Given the description of an element on the screen output the (x, y) to click on. 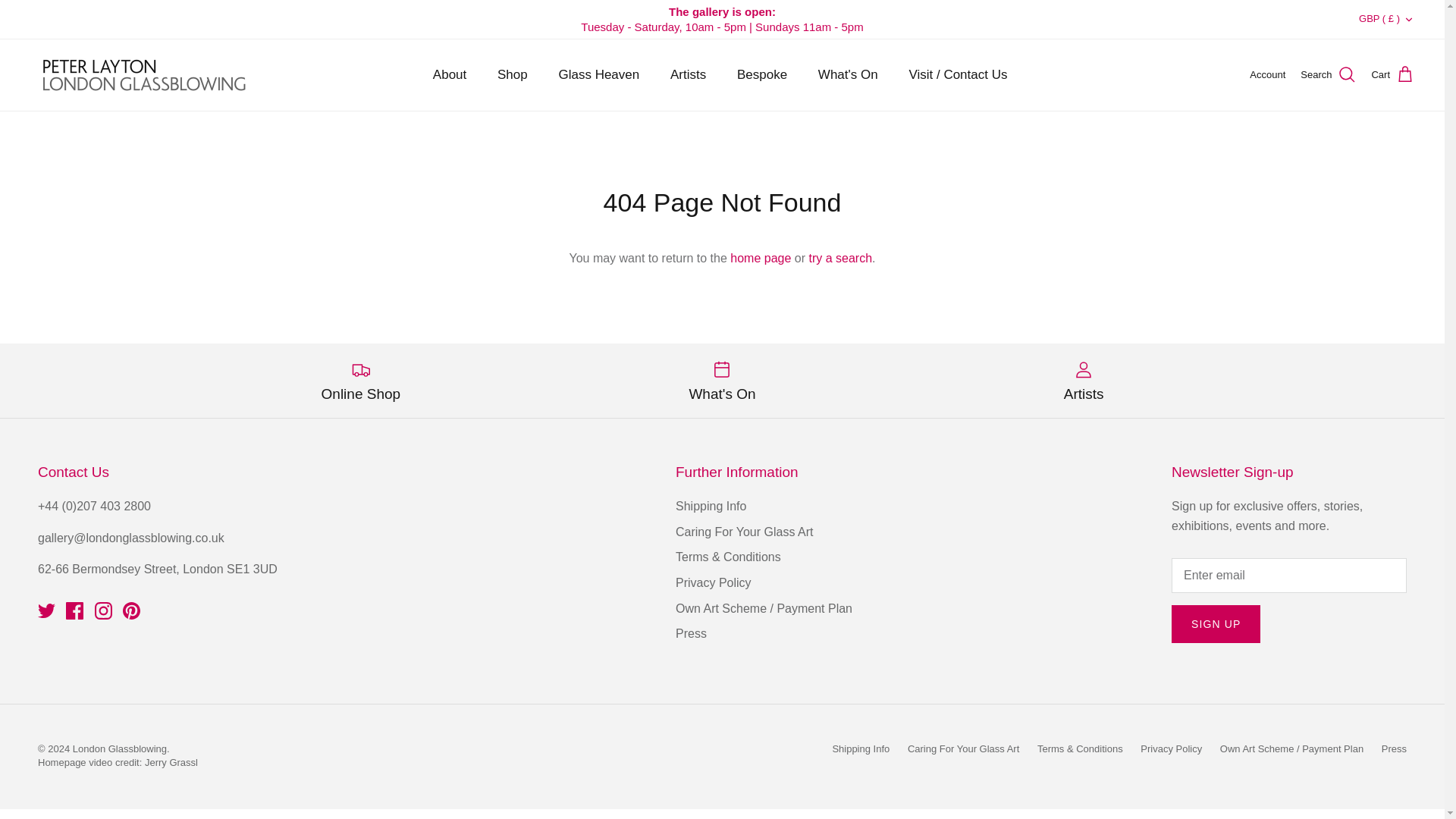
What's On (722, 380)
Online Shop (359, 380)
Instagram (103, 610)
Artists (687, 74)
Cart (1392, 75)
Bespoke (761, 74)
try a search (840, 257)
Glass Heaven (598, 74)
London Glassblowing (143, 74)
home page (760, 257)
